Given the description of an element on the screen output the (x, y) to click on. 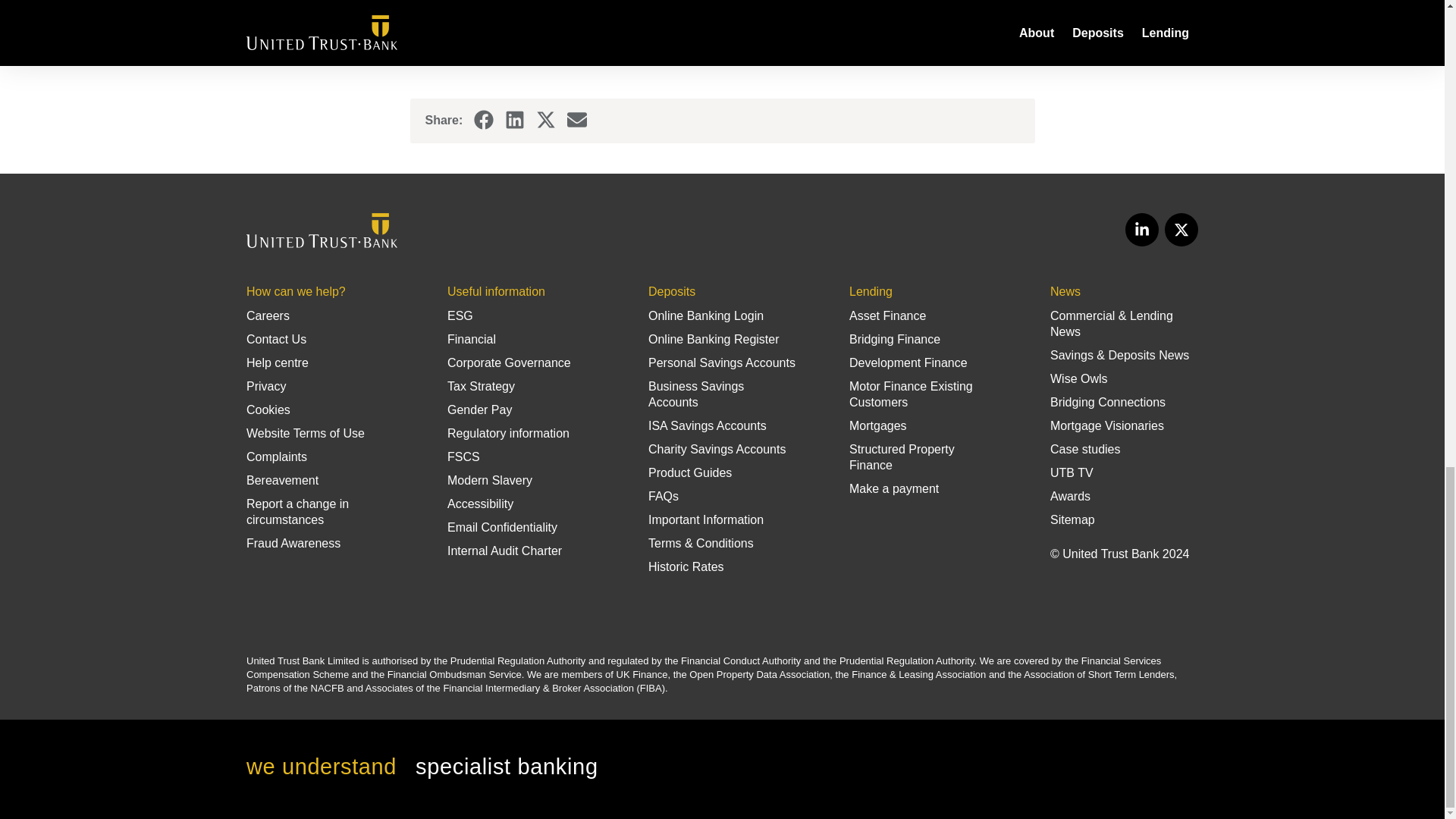
Fraud Awareness (293, 543)
Envelope (576, 120)
Envelope (576, 119)
Report a change in circumstances (297, 511)
LinkedIn (514, 120)
LinkedIn (1142, 229)
United Bank Trust logo (321, 230)
Cookies (267, 409)
Website Terms of Use (305, 432)
LinkedIn (1141, 229)
